Given the description of an element on the screen output the (x, y) to click on. 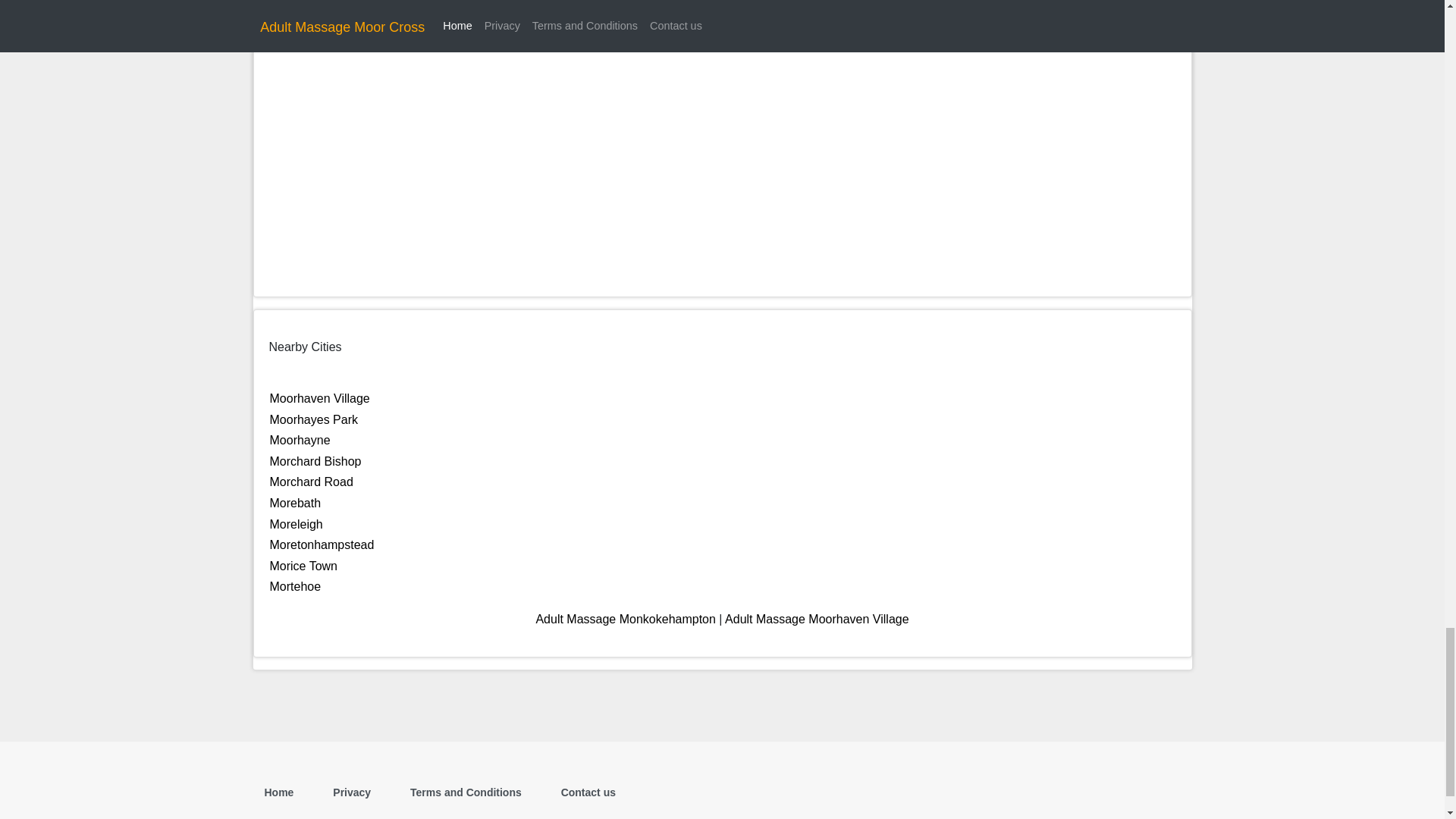
Moreleigh (296, 523)
Moorhayne (299, 440)
Adult Massage Monkokehampton (624, 618)
Adult Massage Moorhaven Village (816, 618)
Morchard Road (311, 481)
Mortehoe (295, 585)
Moorhaven Village (319, 398)
Morebath (295, 502)
Moretonhampstead (321, 544)
Morchard Bishop (315, 461)
